Given the description of an element on the screen output the (x, y) to click on. 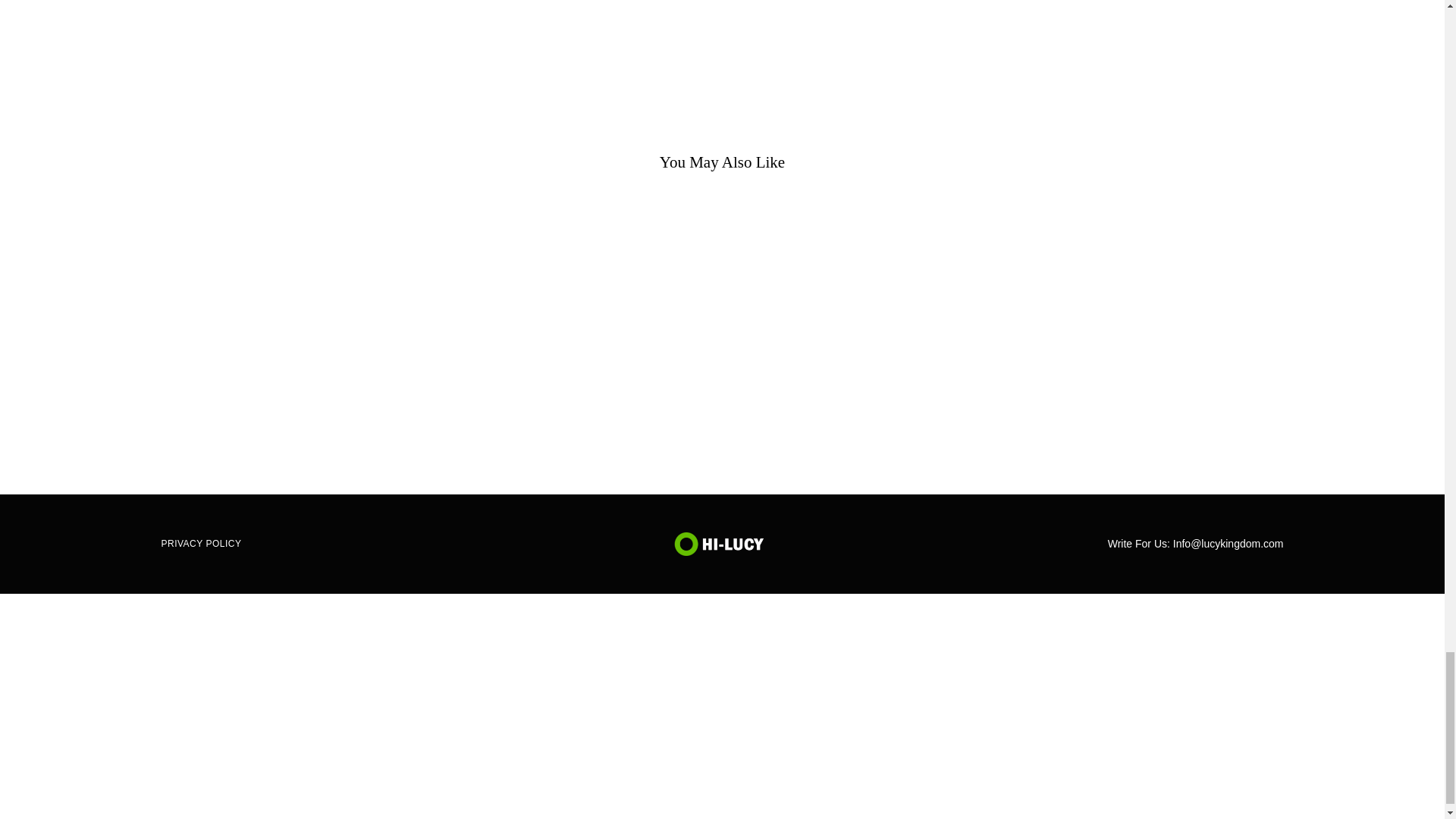
PRIVACY POLICY (205, 544)
